Given the description of an element on the screen output the (x, y) to click on. 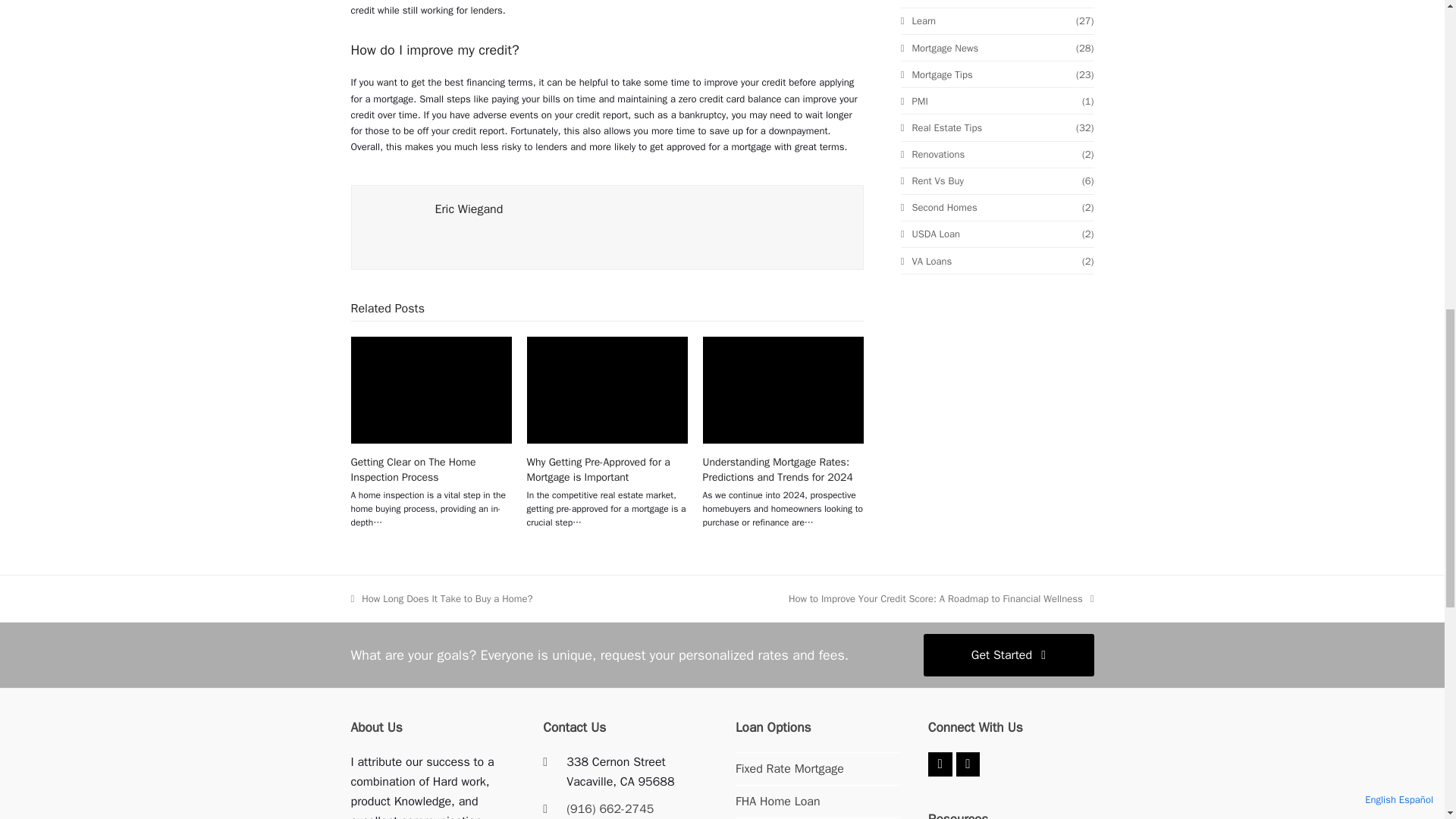
Why Getting Pre-Approved for a Mortgage is Important (598, 469)
Eric Wiegand (469, 209)
Visit Author Page (469, 209)
Fixed Rate Mortgage (789, 768)
Getting Clear on The Home Inspection Process (413, 469)
Getting Clear on The Home Inspection Process (430, 389)
Why Getting Pre-Approved for a Mortgage is Important (607, 389)
Visit Author Page (393, 226)
